Given the description of an element on the screen output the (x, y) to click on. 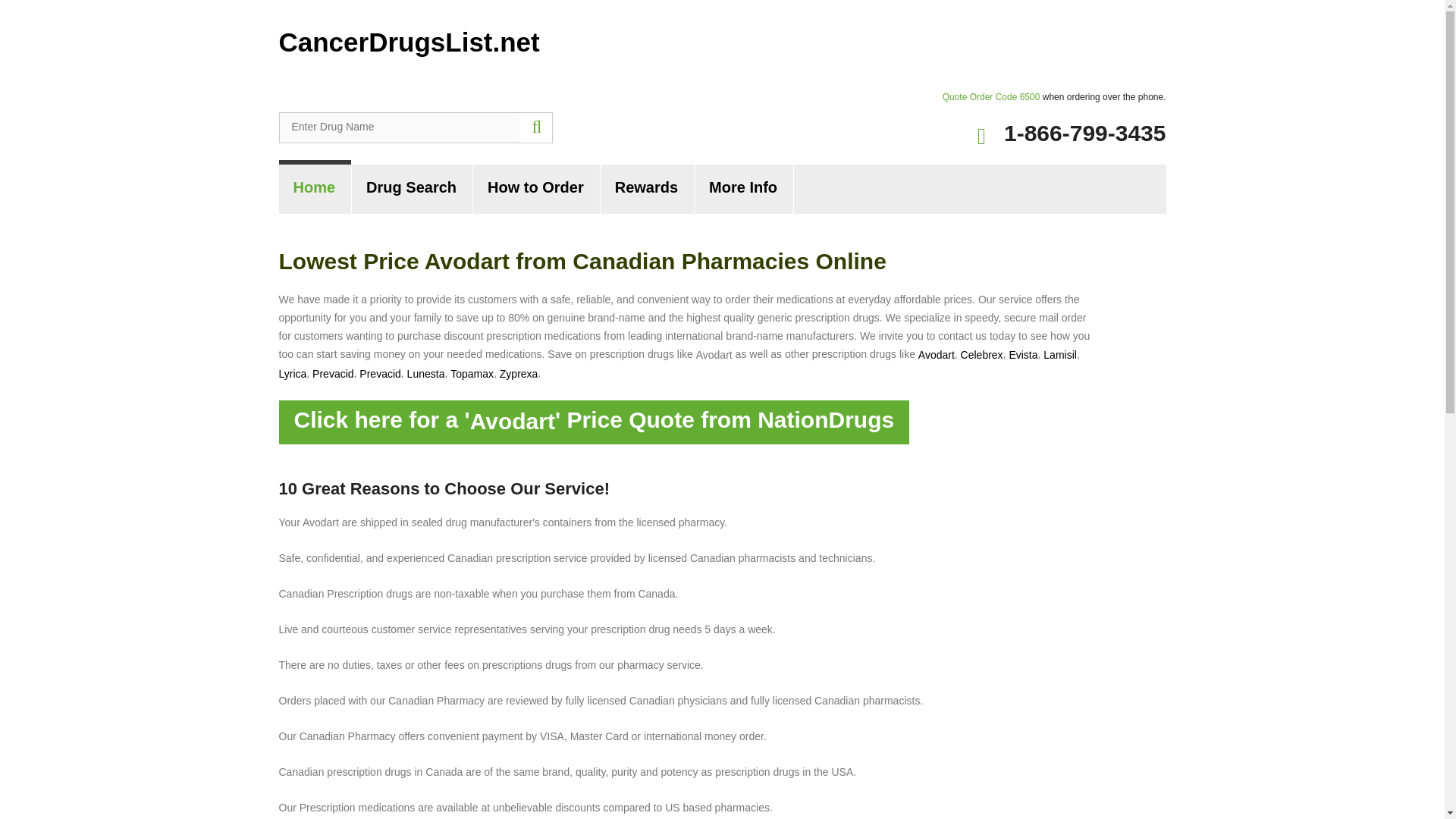
Prevacid (379, 373)
How to Order (536, 188)
Lamisil (1060, 354)
Evista (1022, 354)
Home (315, 188)
Click here for a 'Avodart' Price Quote from NationDrugs (594, 422)
CancerDrugsList.net (409, 41)
More Info (743, 188)
Rewards (646, 188)
Prevacid (333, 373)
